Given the description of an element on the screen output the (x, y) to click on. 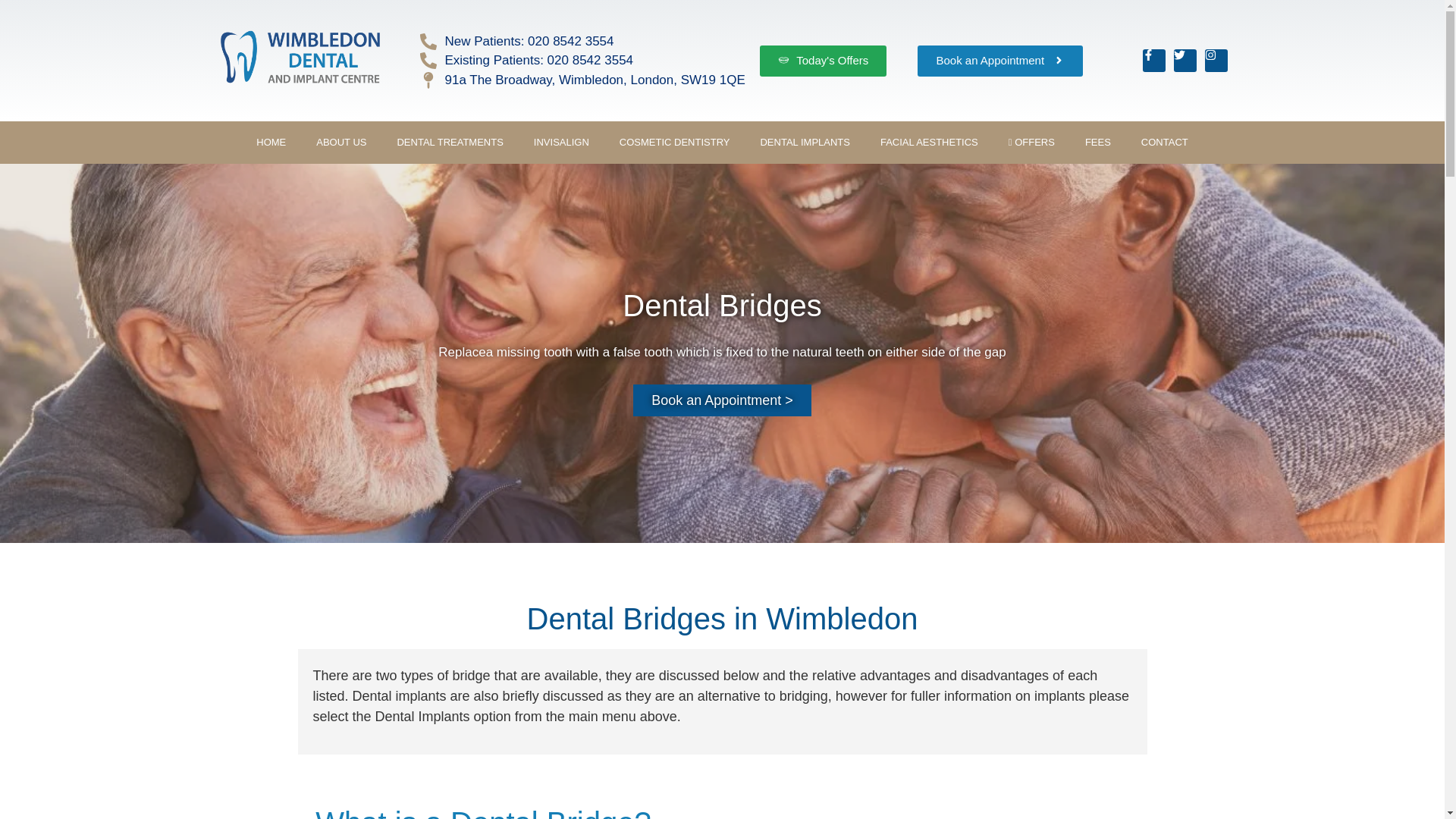
New Patients: 020 8542 3554 (582, 41)
DENTAL TREATMENTS (449, 142)
Book an Appointment (1000, 60)
Existing Patients: 020 8542 3554 (582, 60)
HOME (271, 142)
DENTAL IMPLANTS (804, 142)
INVISALIGN (561, 142)
COSMETIC DENTISTRY (674, 142)
ABOUT US (341, 142)
